Given the description of an element on the screen output the (x, y) to click on. 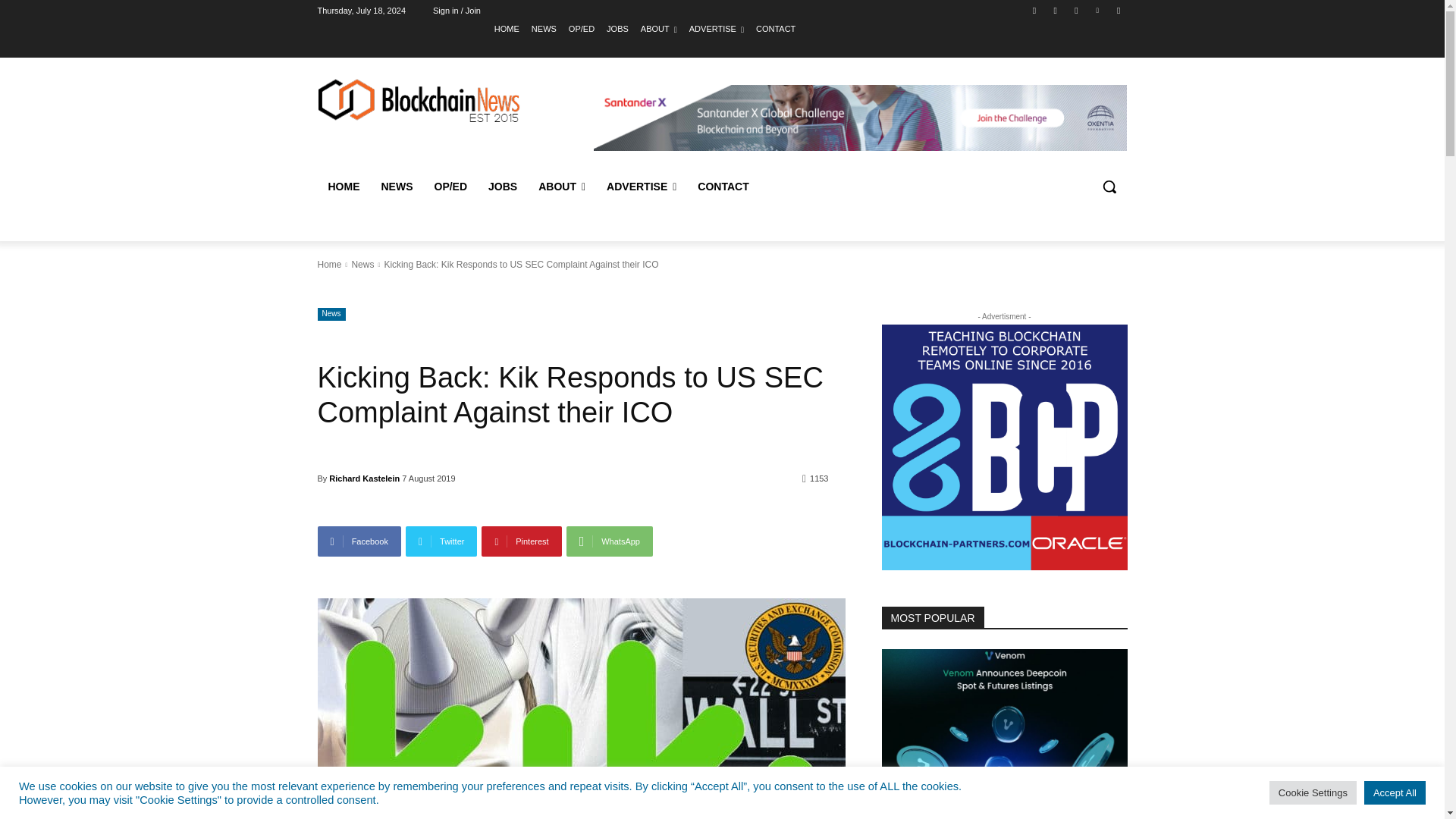
Blockchain News (543, 28)
ABOUT (658, 28)
Facebook (1034, 9)
ADVERTISE (716, 28)
Instagram (1055, 9)
HOME (507, 28)
Facebook (358, 541)
Youtube (1117, 9)
NEWS (543, 28)
Twitter (1075, 9)
JOBS (617, 28)
View all posts in News (362, 264)
Vimeo (1097, 9)
CONTACT (774, 28)
Blockchain News (396, 186)
